Given the description of an element on the screen output the (x, y) to click on. 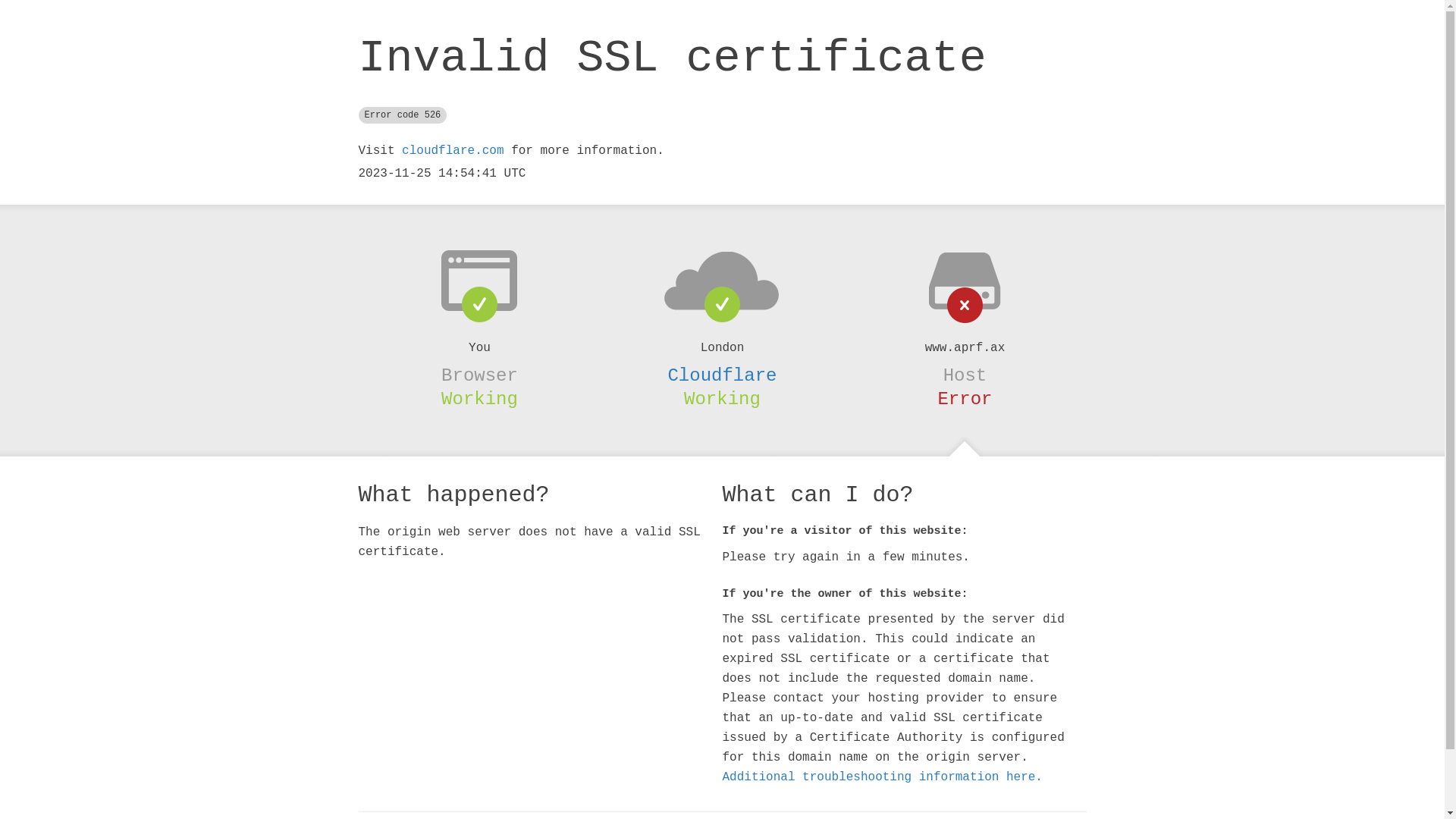
Cloudflare Element type: text (721, 375)
cloudflare.com Element type: text (452, 150)
Additional troubleshooting information here. Element type: text (881, 777)
